Given the description of an element on the screen output the (x, y) to click on. 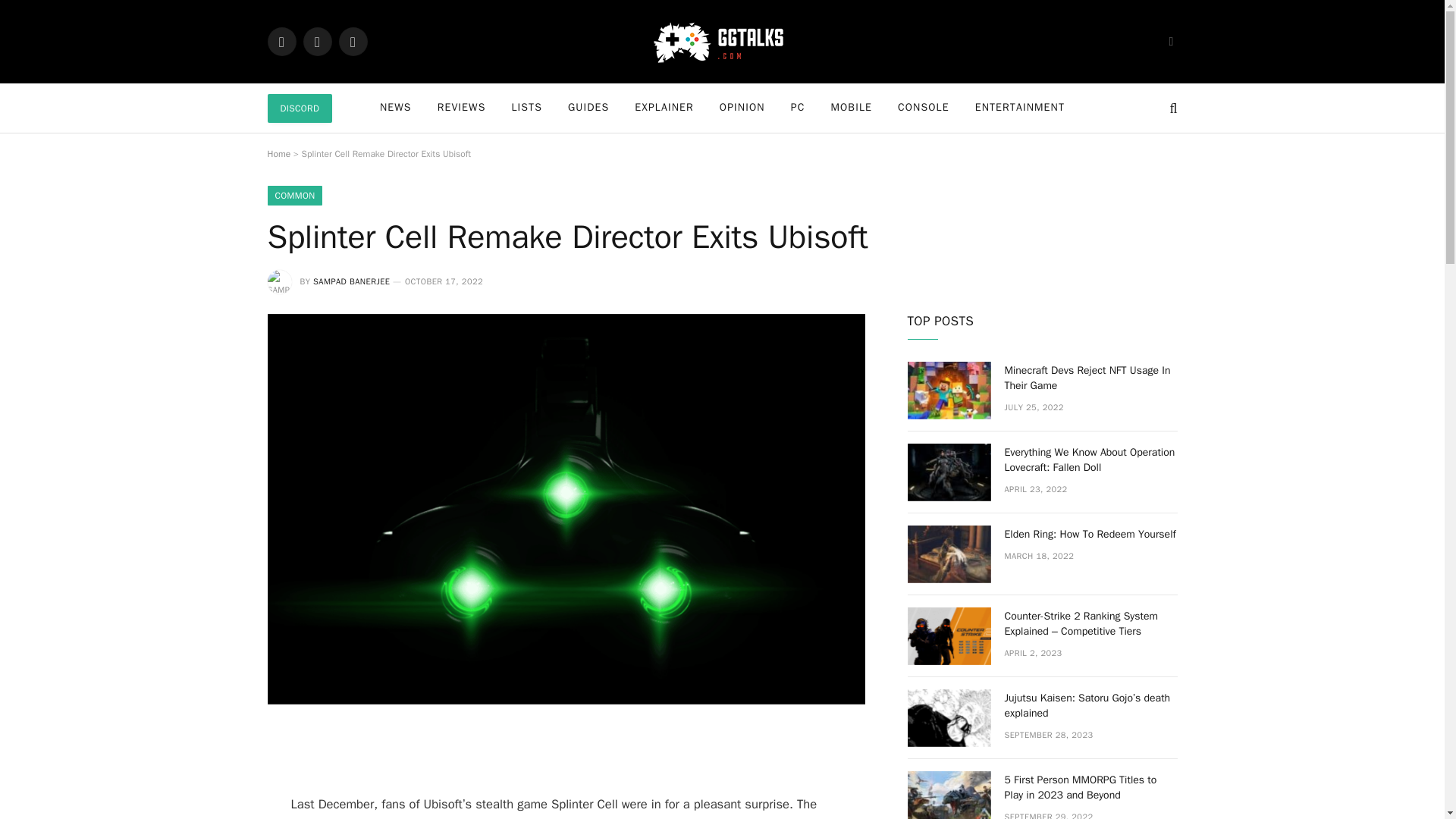
MOBILE (850, 107)
Instagram (351, 41)
Home (277, 153)
Switch to Dark Design - easier on eyes. (1168, 41)
DISCORD (298, 108)
EXPLAINER (663, 107)
Twitter (316, 41)
REVIEWS (462, 107)
ENTERTAINMENT (1019, 107)
GUIDES (587, 107)
LISTS (525, 107)
NEWS (395, 107)
COMMON (293, 195)
GGTalks (721, 41)
Posts by Sampad Banerjee (351, 281)
